Given the description of an element on the screen output the (x, y) to click on. 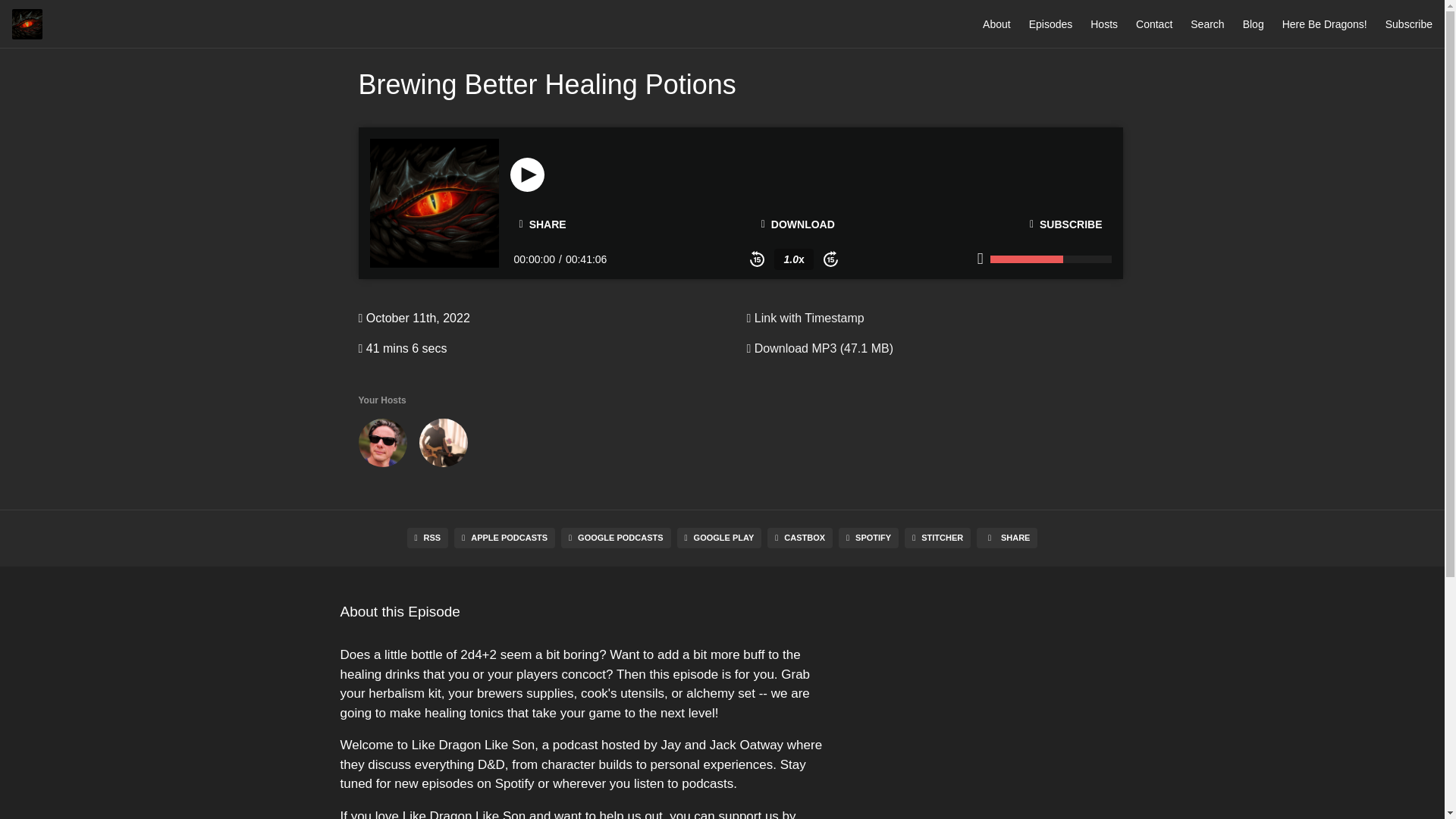
Jay (382, 445)
Link with Timestamp (804, 318)
Episodes (1051, 24)
APPLE PODCASTS (504, 537)
CASTBOX (799, 537)
RSS (427, 537)
Search (1207, 24)
SHARE (1006, 537)
Contact (1153, 24)
SUBSCRIBE (1066, 224)
